Given the description of an element on the screen output the (x, y) to click on. 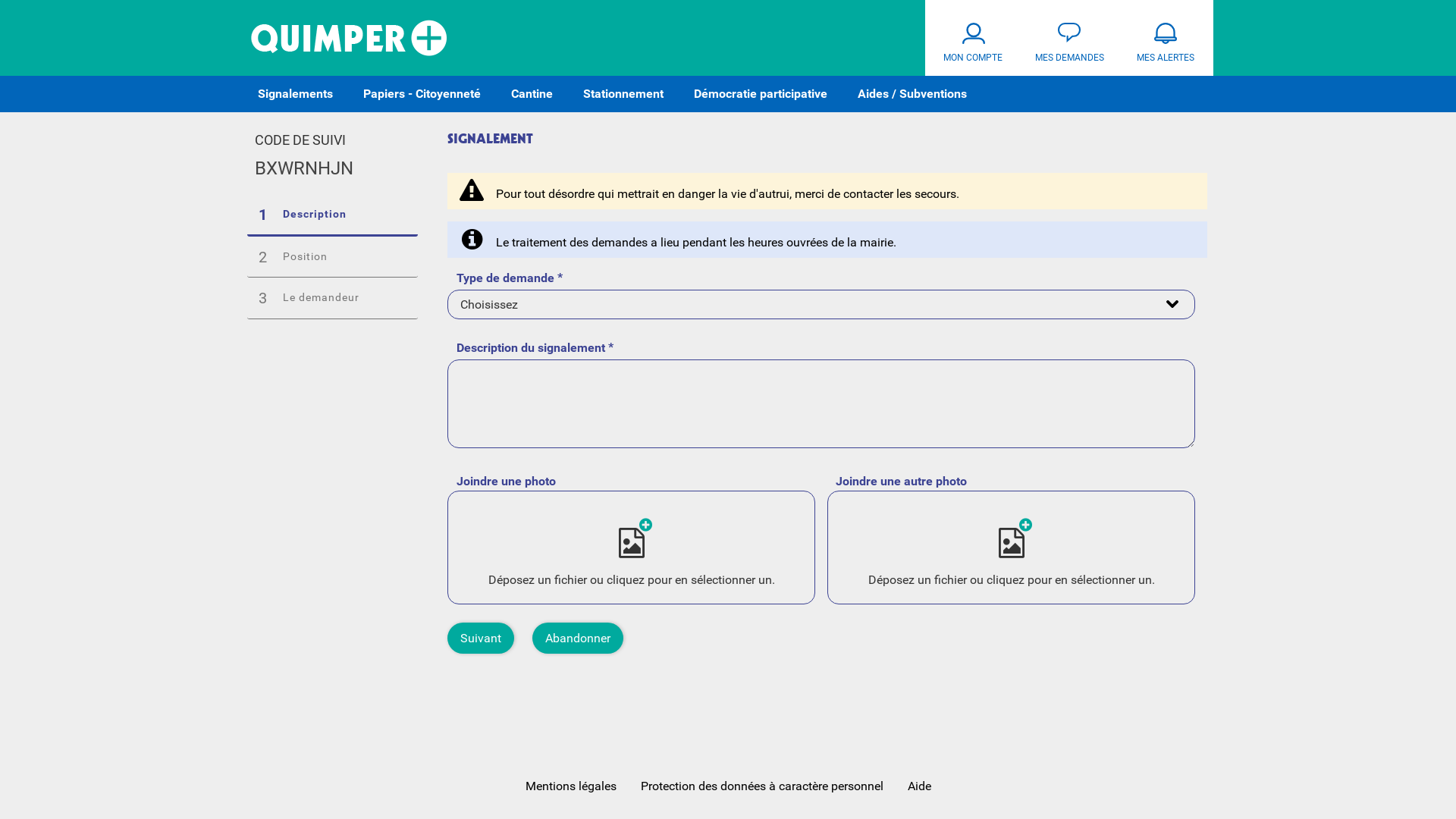
MES DEMANDES Element type: text (1069, 37)
Signalements Element type: text (295, 93)
Abandonner Element type: text (577, 637)
MES ALERTES Element type: text (1165, 37)
Stationnement Element type: text (622, 93)
Accueil - Quimper+ Element type: hover (348, 37)
Aides / Subventions Element type: text (912, 93)
Cantine Element type: text (531, 93)
BXWRNHJN Element type: text (303, 169)
Aide Element type: text (918, 785)
MON COMPTE Element type: text (973, 37)
Suivant Element type: text (480, 637)
